Given the description of an element on the screen output the (x, y) to click on. 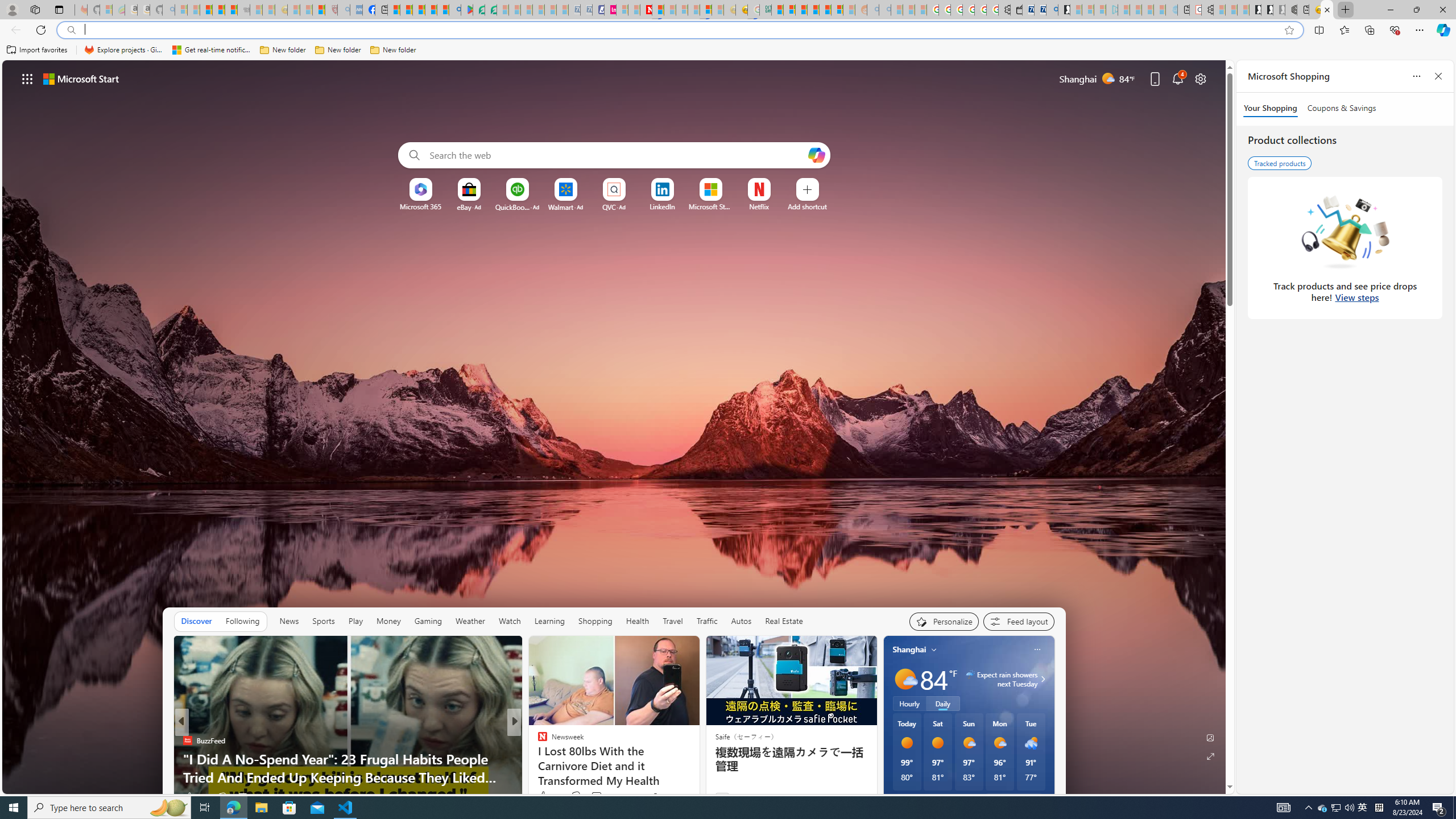
Favorites bar (728, 49)
Feed settings (1018, 621)
Shanghai (909, 649)
New folder (392, 49)
383 Like (548, 795)
